Given the description of an element on the screen output the (x, y) to click on. 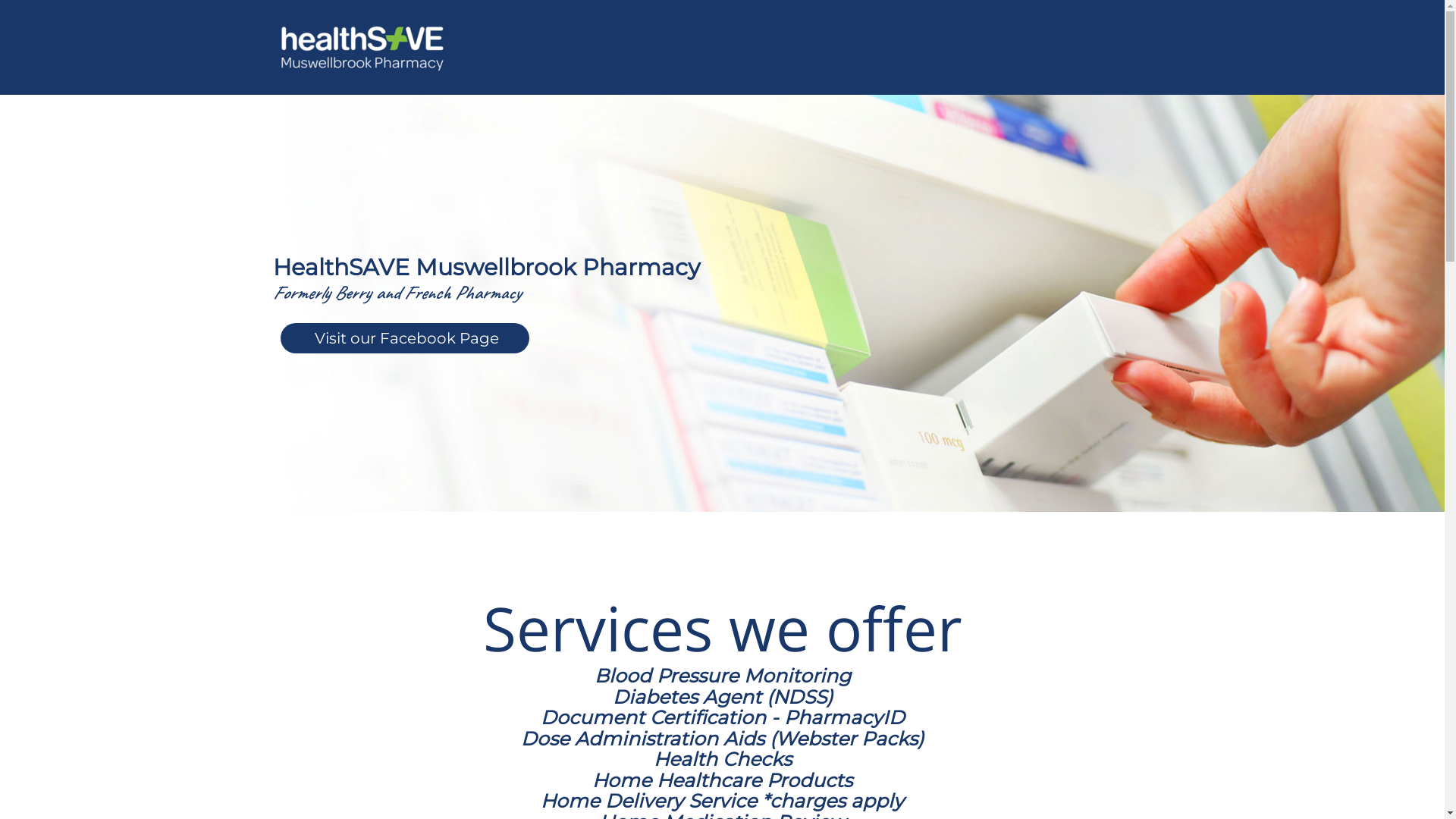
Visit our Facebook Page Element type: text (404, 338)
